Given the description of an element on the screen output the (x, y) to click on. 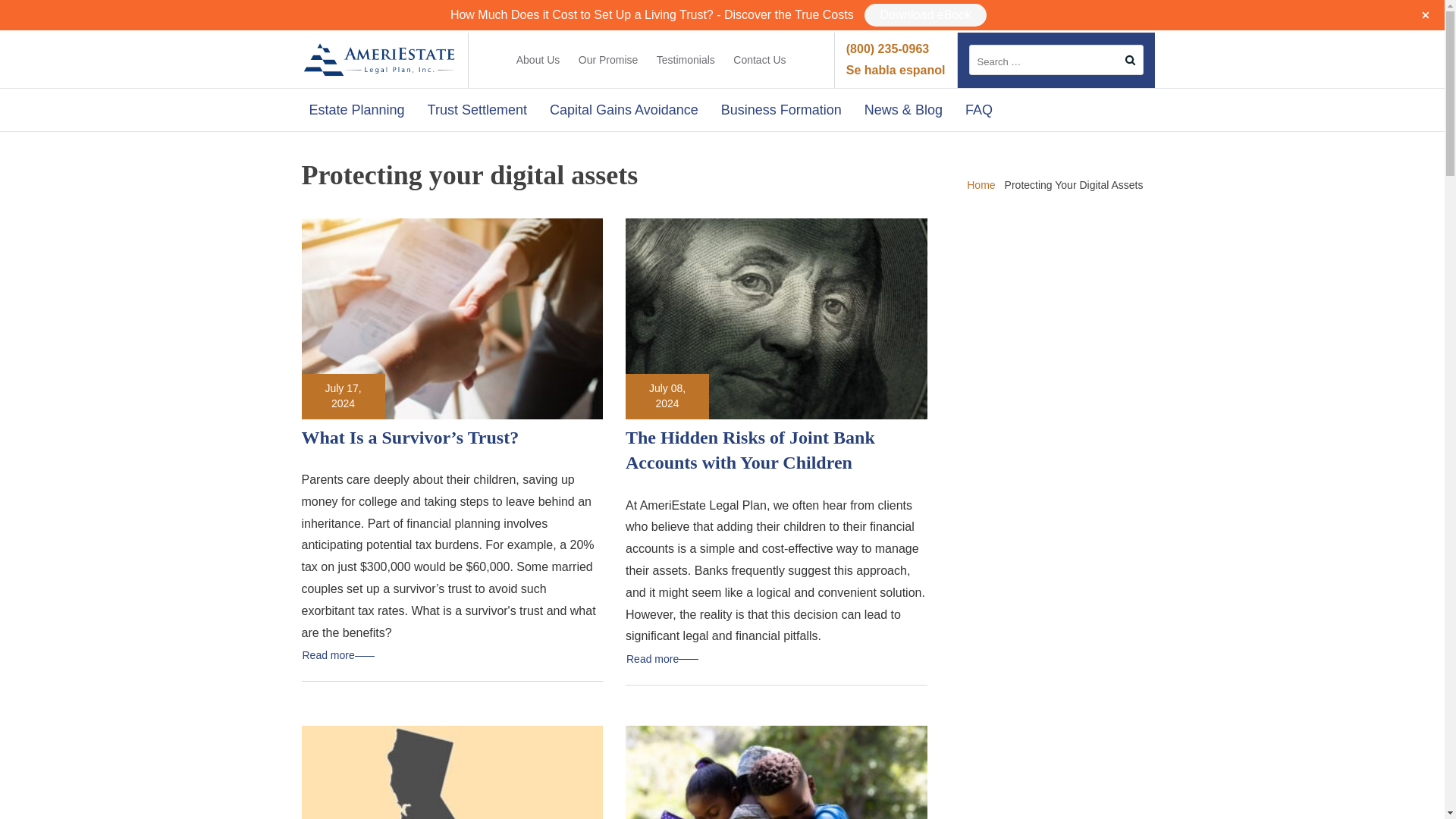
Our Promise (608, 59)
Testimonials (685, 59)
About Us (538, 58)
Contact Us (759, 59)
Capital Gains Avoidance (623, 109)
Business Formation (780, 109)
Trust Settlement (477, 109)
Go to AmeriEstate Legal Plan, Inc.. (980, 184)
Se habla espanol (894, 69)
Estate Planning (356, 109)
